Given the description of an element on the screen output the (x, y) to click on. 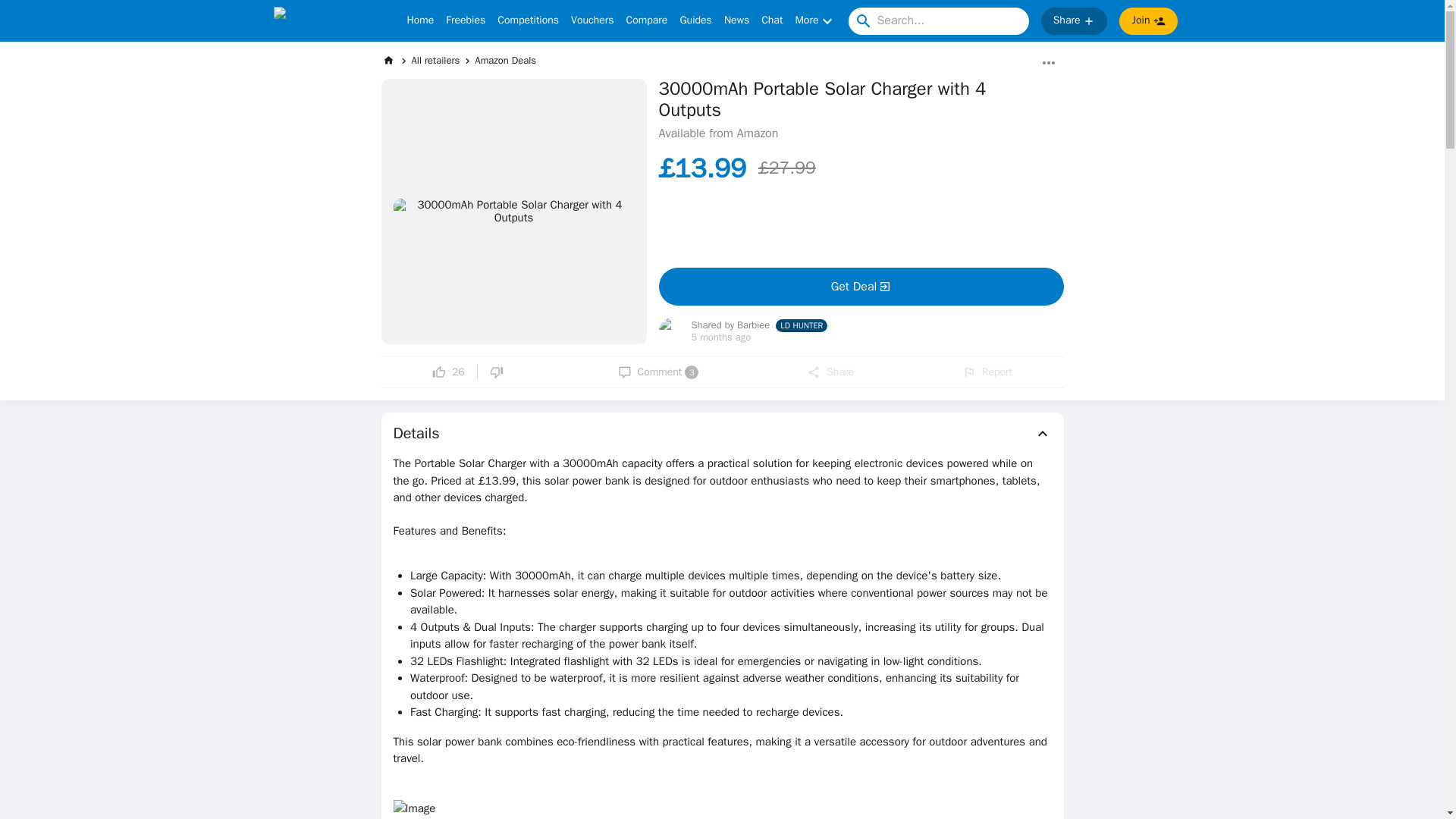
More (814, 21)
Amazon Deals (504, 60)
Get Deal (860, 286)
Guides (695, 21)
Home (419, 21)
Freebies (464, 21)
Vouchers (591, 21)
All retailers (435, 60)
News (736, 21)
Report (986, 371)
